Given the description of an element on the screen output the (x, y) to click on. 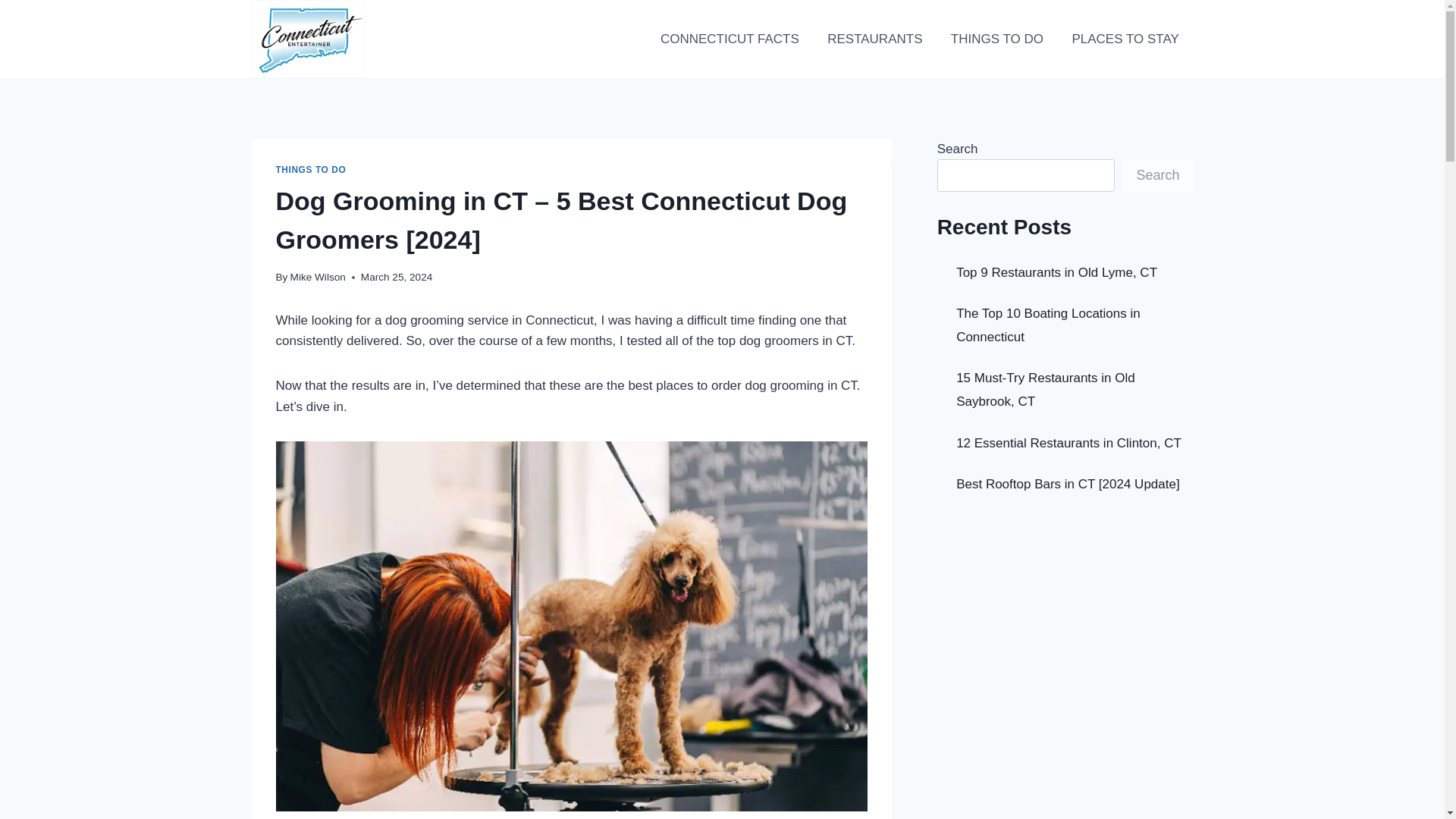
THINGS TO DO (997, 39)
Search (1157, 174)
15 Must-Try Restaurants in Old Saybrook, CT (1045, 389)
RESTAURANTS (874, 39)
CONNECTICUT FACTS (729, 39)
Top 9 Restaurants in Old Lyme, CT (1056, 272)
Mike Wilson (317, 276)
12 Essential Restaurants in Clinton, CT (1068, 442)
THINGS TO DO (311, 169)
PLACES TO STAY (1125, 39)
The Top 10 Boating Locations in Connecticut (1048, 324)
